Given the description of an element on the screen output the (x, y) to click on. 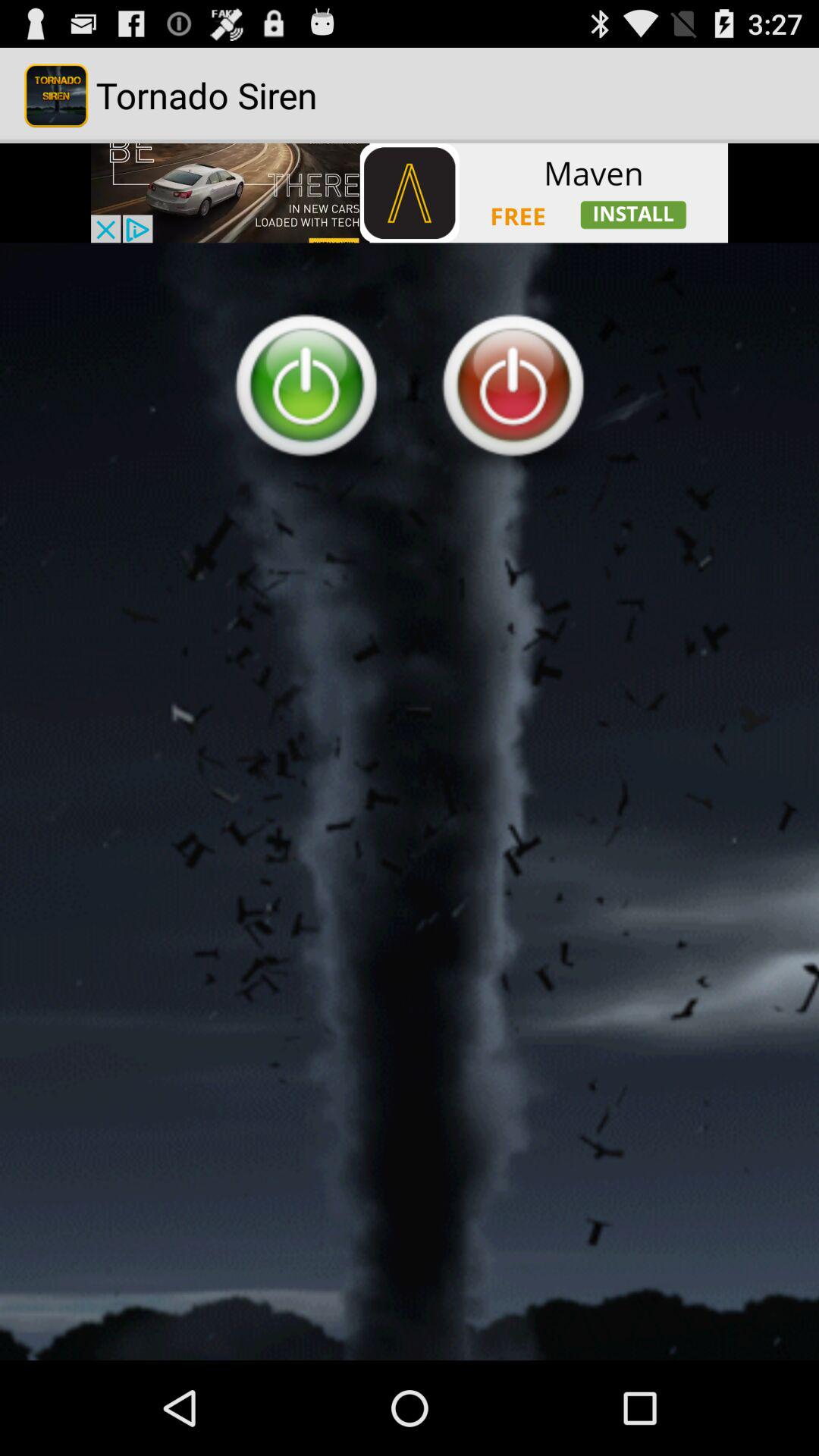
advertisement banner (409, 192)
